Given the description of an element on the screen output the (x, y) to click on. 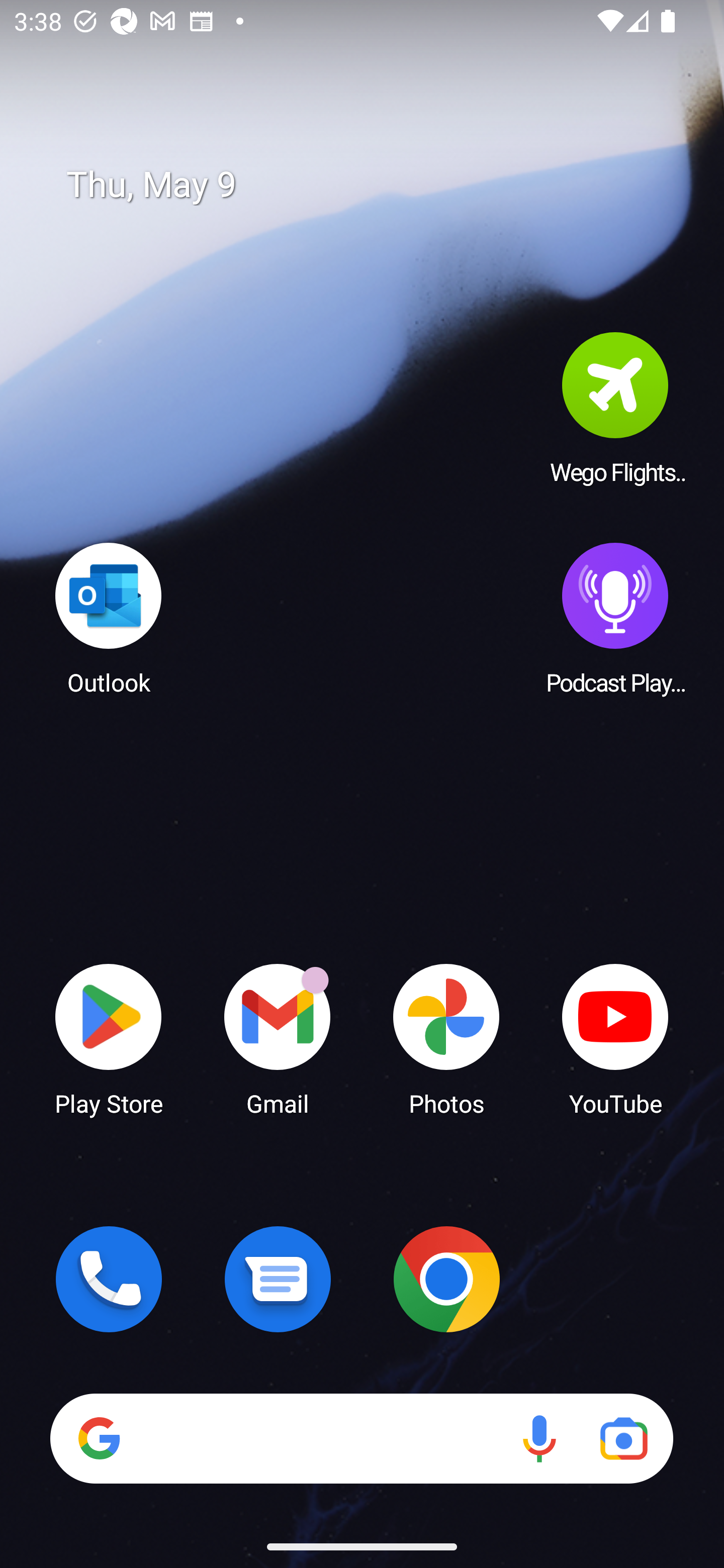
Thu, May 9 (375, 184)
Wego Flights & Hotels (615, 407)
Outlook (108, 617)
Podcast Player (615, 617)
Play Store (108, 1038)
Gmail Gmail has 18 notifications (277, 1038)
Photos (445, 1038)
YouTube (615, 1038)
Phone (108, 1279)
Messages (277, 1279)
Chrome (446, 1279)
Search Voice search Google Lens (361, 1438)
Voice search (539, 1438)
Google Lens (623, 1438)
